Given the description of an element on the screen output the (x, y) to click on. 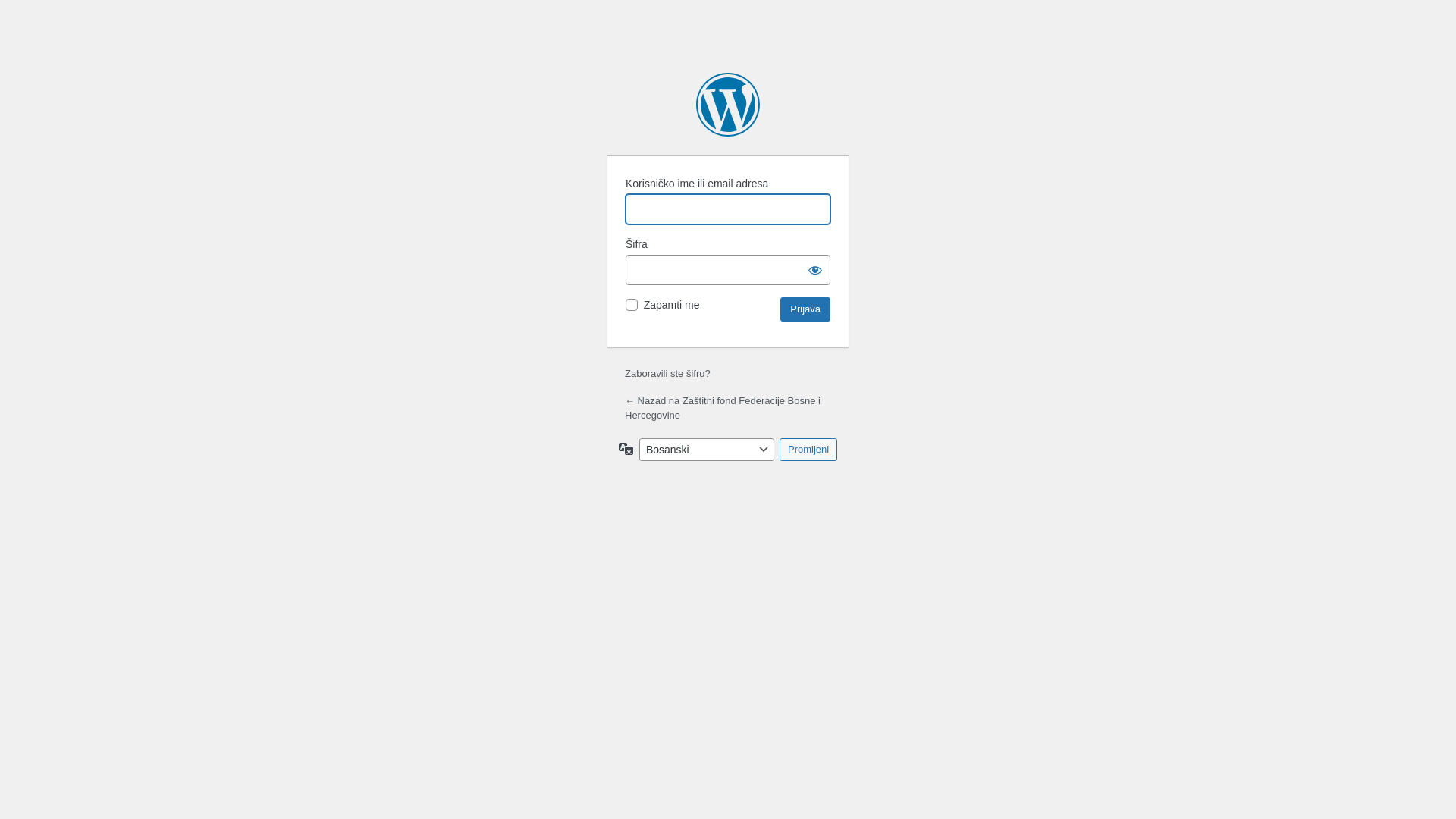
Zasnovano na WordPressu Element type: text (727, 104)
Promijeni Element type: text (808, 449)
Prijava Element type: text (805, 309)
